Given the description of an element on the screen output the (x, y) to click on. 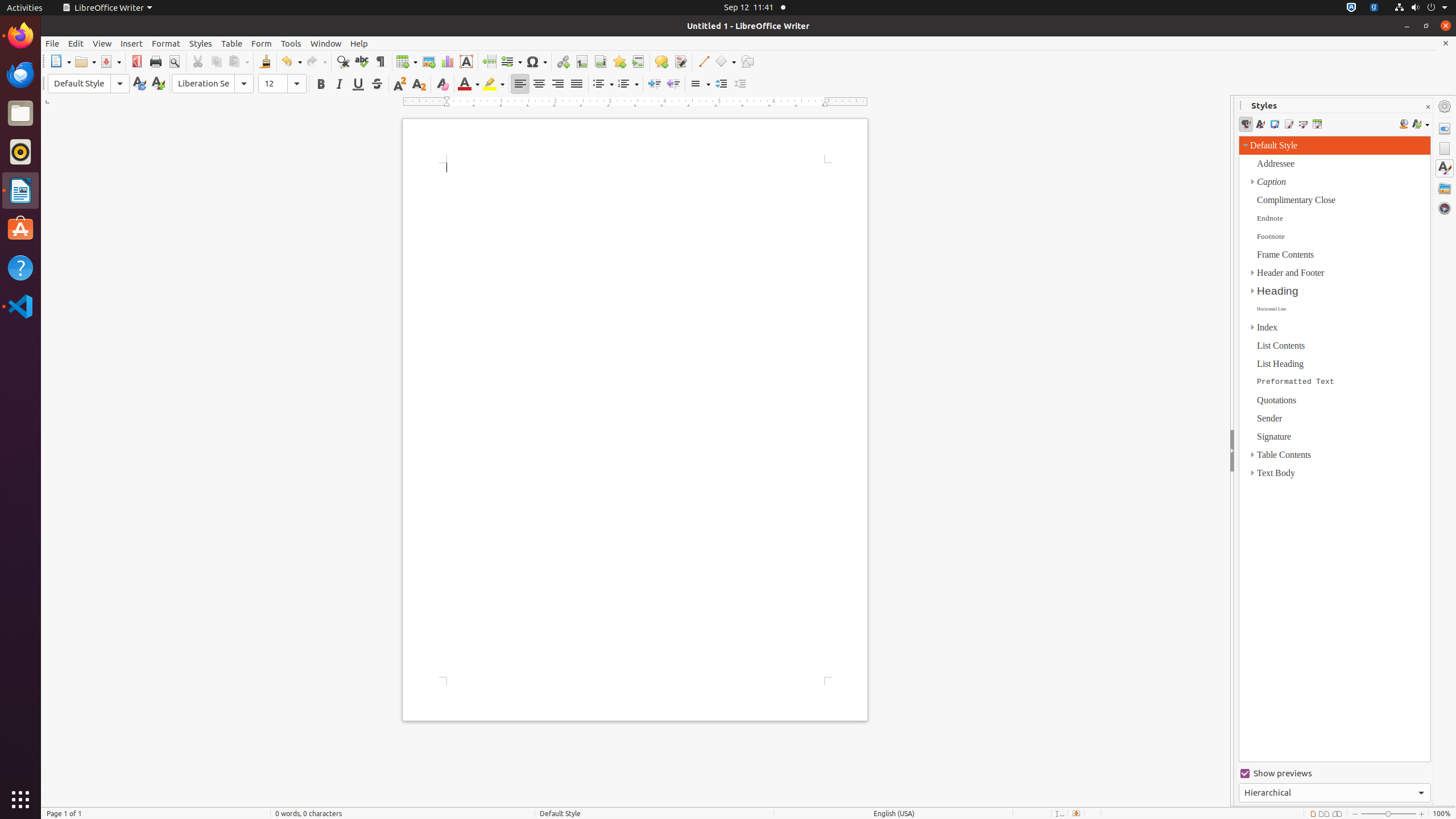
Increase Element type: push-button (721, 83)
Fill Format Mode Element type: push-button (1403, 123)
Right Element type: toggle-button (557, 83)
Formatting Marks Element type: toggle-button (379, 61)
Highlight Color Element type: push-button (493, 83)
